Given the description of an element on the screen output the (x, y) to click on. 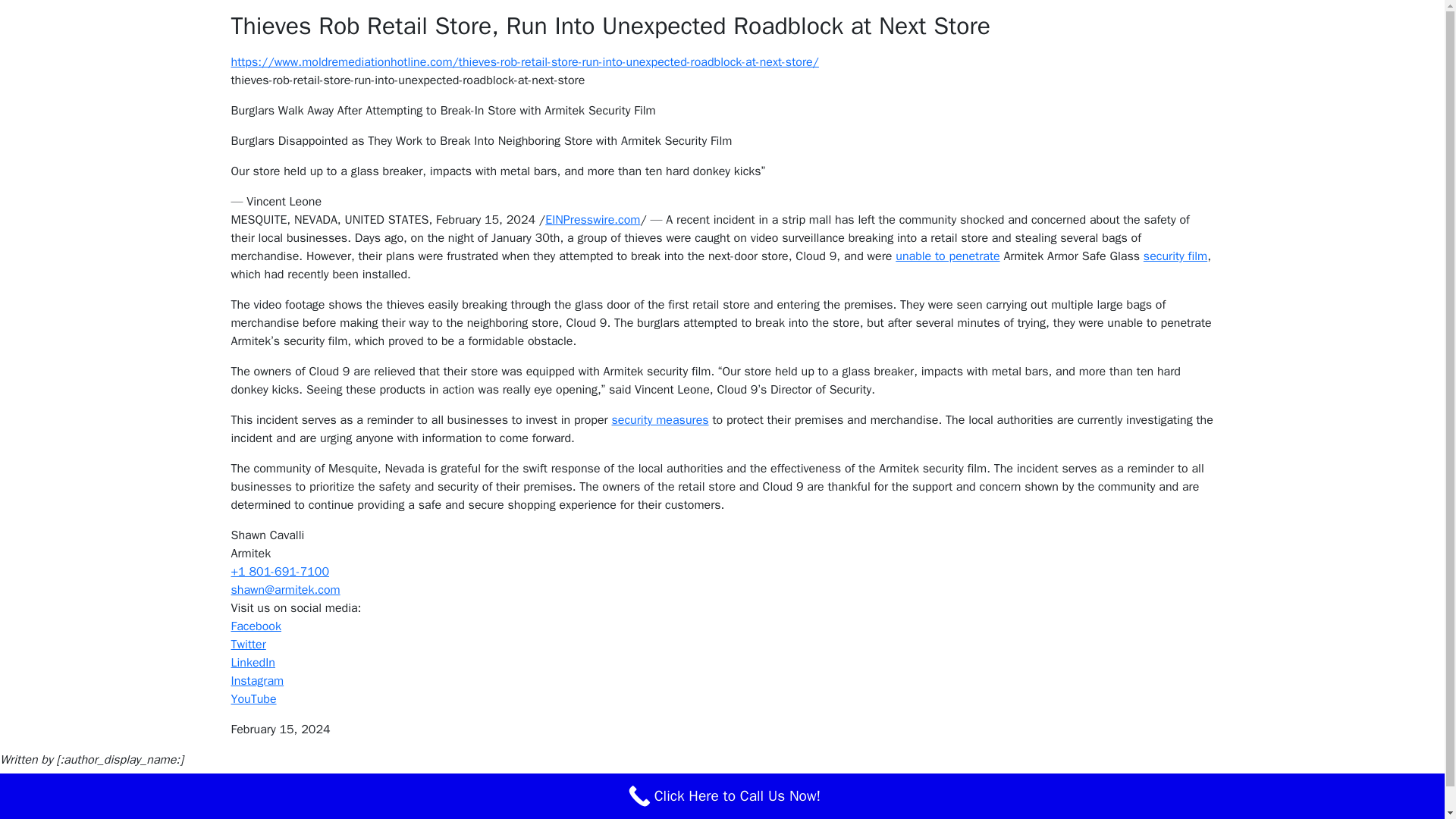
unable to penetrate (946, 255)
YouTube (253, 698)
EINPresswire.com (592, 219)
security film (1174, 255)
LinkedIn (252, 662)
security measures (659, 419)
Instagram (256, 680)
Facebook (255, 626)
Twitter (247, 644)
